Given the description of an element on the screen output the (x, y) to click on. 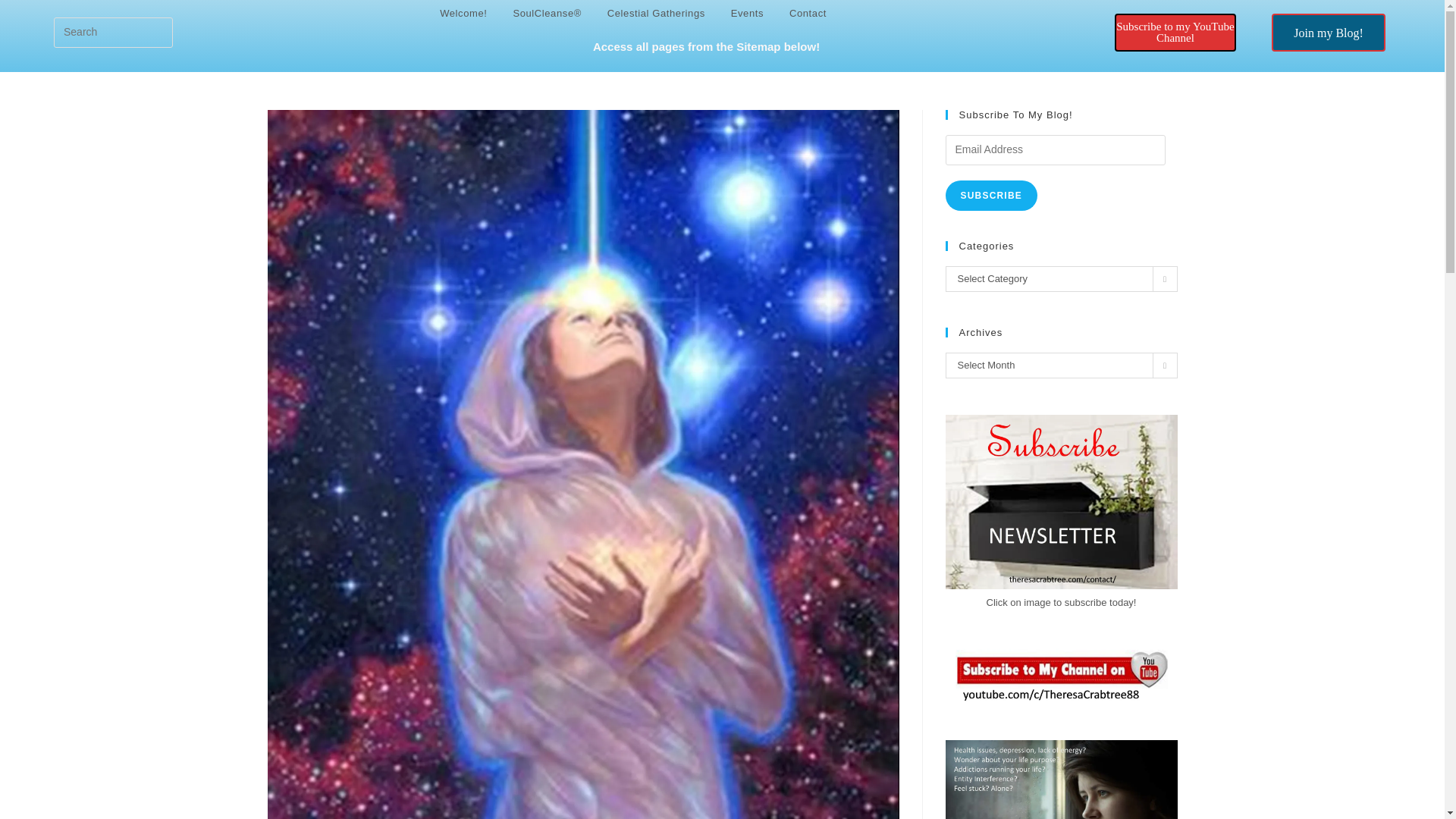
Contact (807, 13)
Events (746, 13)
SUBSCRIBE (990, 195)
Welcome! (462, 13)
Celestial Gatherings (655, 13)
Subscribe to my YouTube Channel (1175, 32)
Join my Blog! (1285, 30)
